Given the description of an element on the screen output the (x, y) to click on. 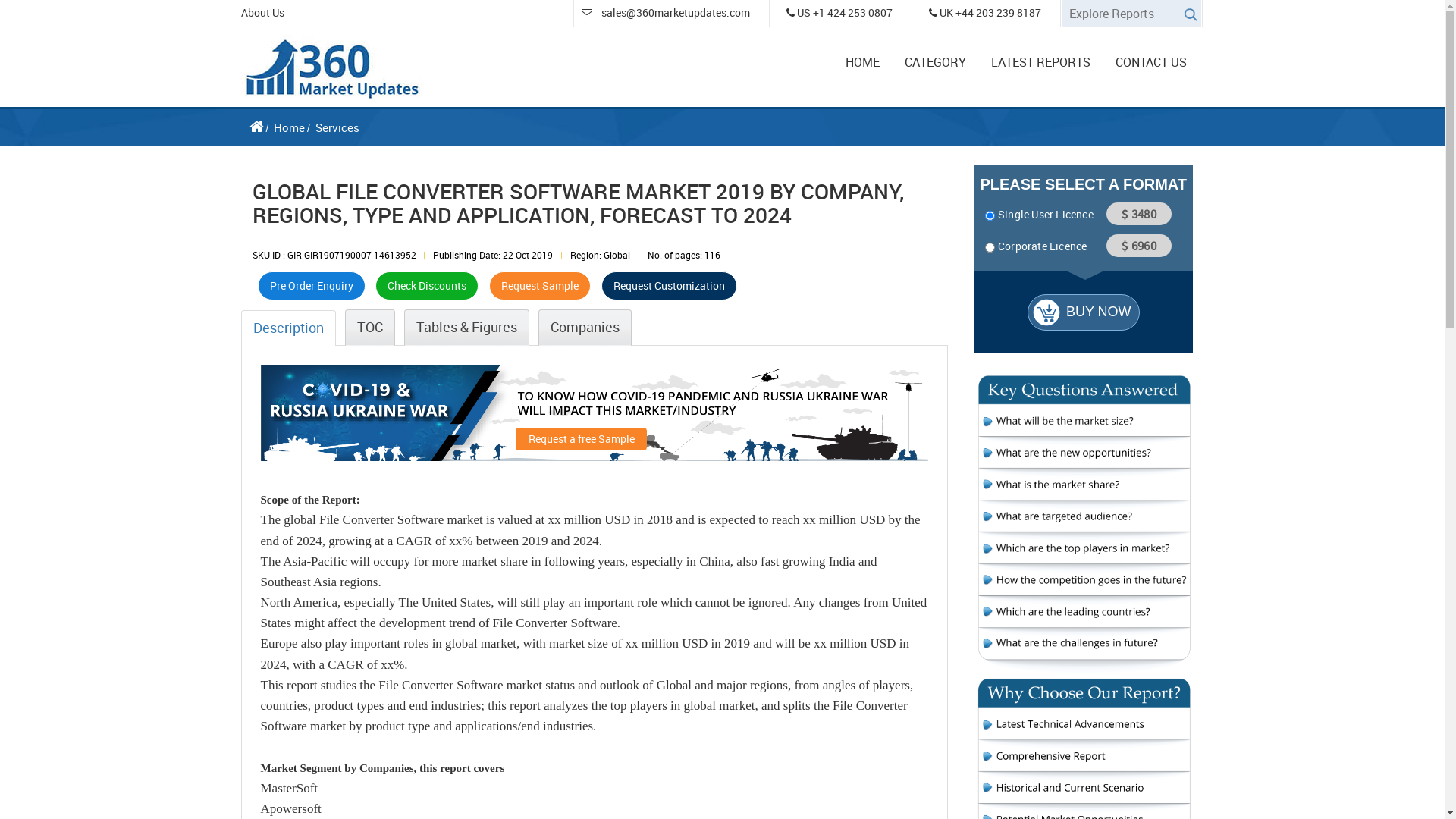
| Element type: text (561, 254)
Check Discounts Element type: text (426, 285)
sales@360marketupdates.com Element type: text (675, 12)
UK +44 203 239 8187 Element type: text (984, 12)
HOME Element type: text (862, 56)
Description Element type: text (288, 327)
Publishing Date: 22-Oct-2019 Element type: text (492, 254)
Request a free Sample Element type: text (580, 439)
6960 Element type: text (1138, 245)
| Element type: text (638, 254)
Request Sample Element type: text (539, 285)
No. of pages: 116 Element type: text (683, 254)
LATEST REPORTS Element type: text (1040, 56)
About Us Element type: text (262, 12)
| Element type: text (423, 254)
3480 Element type: text (1138, 213)
Region: Global Element type: text (599, 254)
TOC Element type: text (369, 327)
CONTACT US Element type: text (1150, 56)
Tables & Figures Element type: text (465, 327)
SKU ID : GIR-GIR1907190007 14613952 Element type: text (334, 254)
BUY NOW Element type: text (1083, 312)
US +1 424 253 0807 Element type: text (839, 12)
Services Element type: text (337, 126)
Home Element type: text (288, 126)
Companies Element type: text (584, 327)
Request Customization Element type: text (668, 285)
Pre Order Enquiry Element type: text (311, 285)
CATEGORY Element type: text (935, 56)
